Given the description of an element on the screen output the (x, y) to click on. 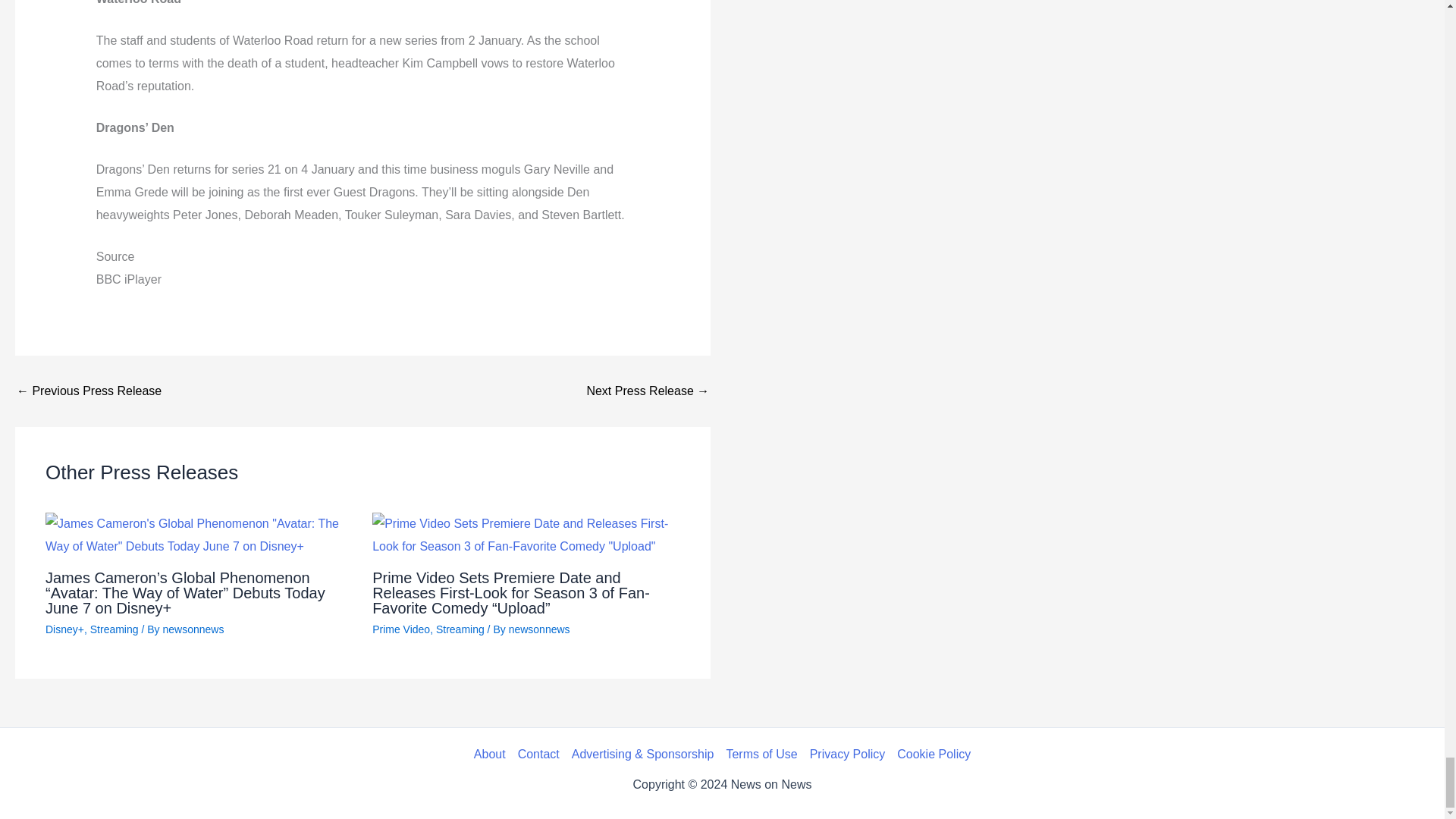
View all posts by newsonnews (192, 629)
View all posts by newsonnews (539, 629)
